Given the description of an element on the screen output the (x, y) to click on. 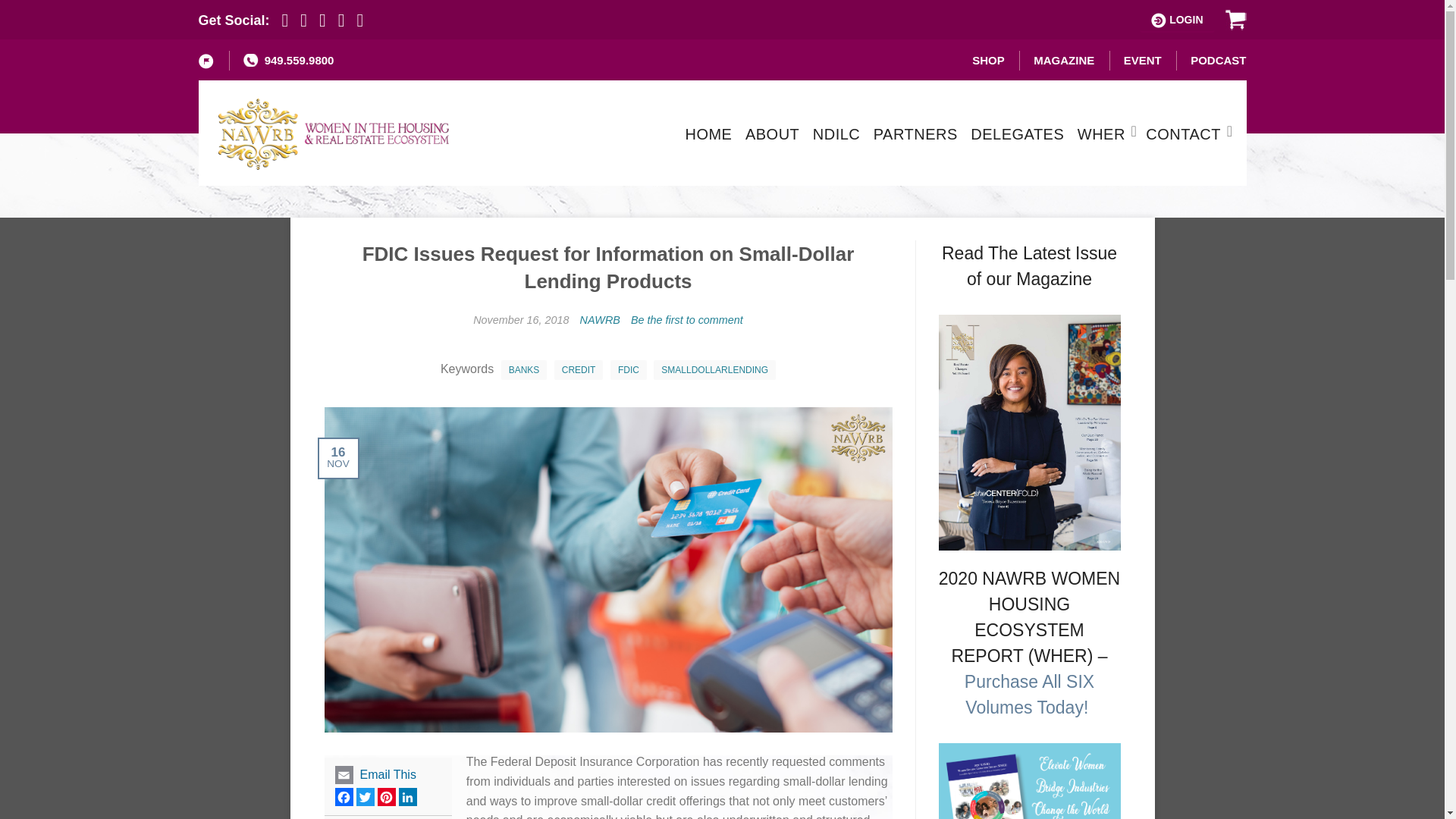
SHOP (988, 60)
Posts by NAWRB (599, 319)
ABOUT (772, 134)
FDIC (628, 370)
949.559.9800 (288, 60)
Facebook (344, 796)
MAGAZINE (1063, 60)
BANKS (523, 370)
WHER (1101, 134)
NAWRB (599, 319)
NDILC (836, 134)
CONTACT (1183, 134)
Twitter (365, 796)
PARTNERS (915, 134)
DELEGATES (1017, 134)
